Given the description of an element on the screen output the (x, y) to click on. 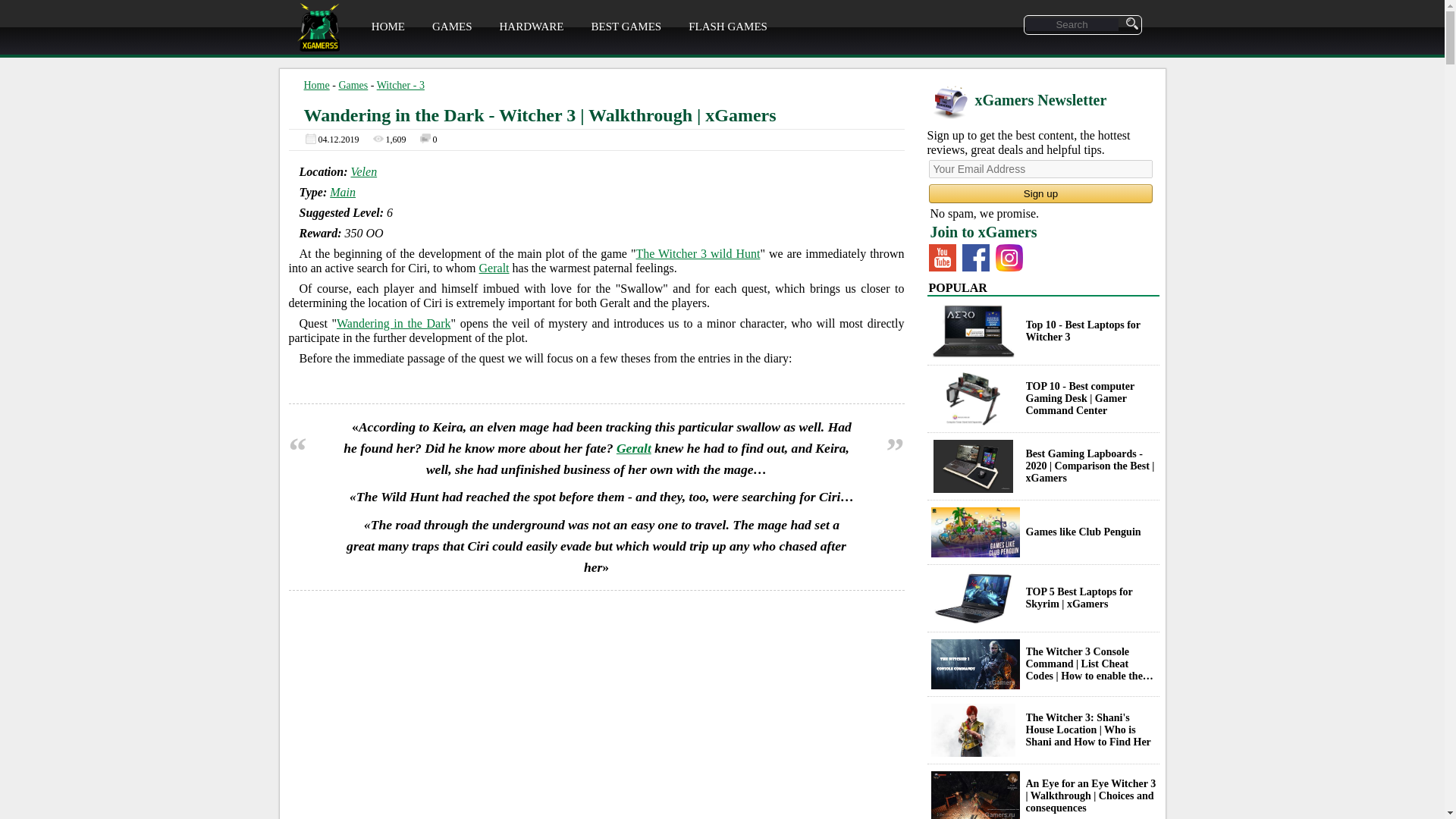
xGamers instagram (1008, 257)
HOME (387, 26)
FLASH GAMES (727, 26)
Our Youtube channel (941, 257)
Top 10 - Best Laptops for Witcher 3 (972, 330)
GAMES (451, 26)
Wandering in the Dark (393, 323)
Advertisement (596, 723)
HARDWARE (531, 26)
xGamers in Facebook (974, 257)
Main (342, 192)
Geralt (632, 447)
Velen (363, 171)
Geralt (494, 267)
Sign up (1040, 193)
